Given the description of an element on the screen output the (x, y) to click on. 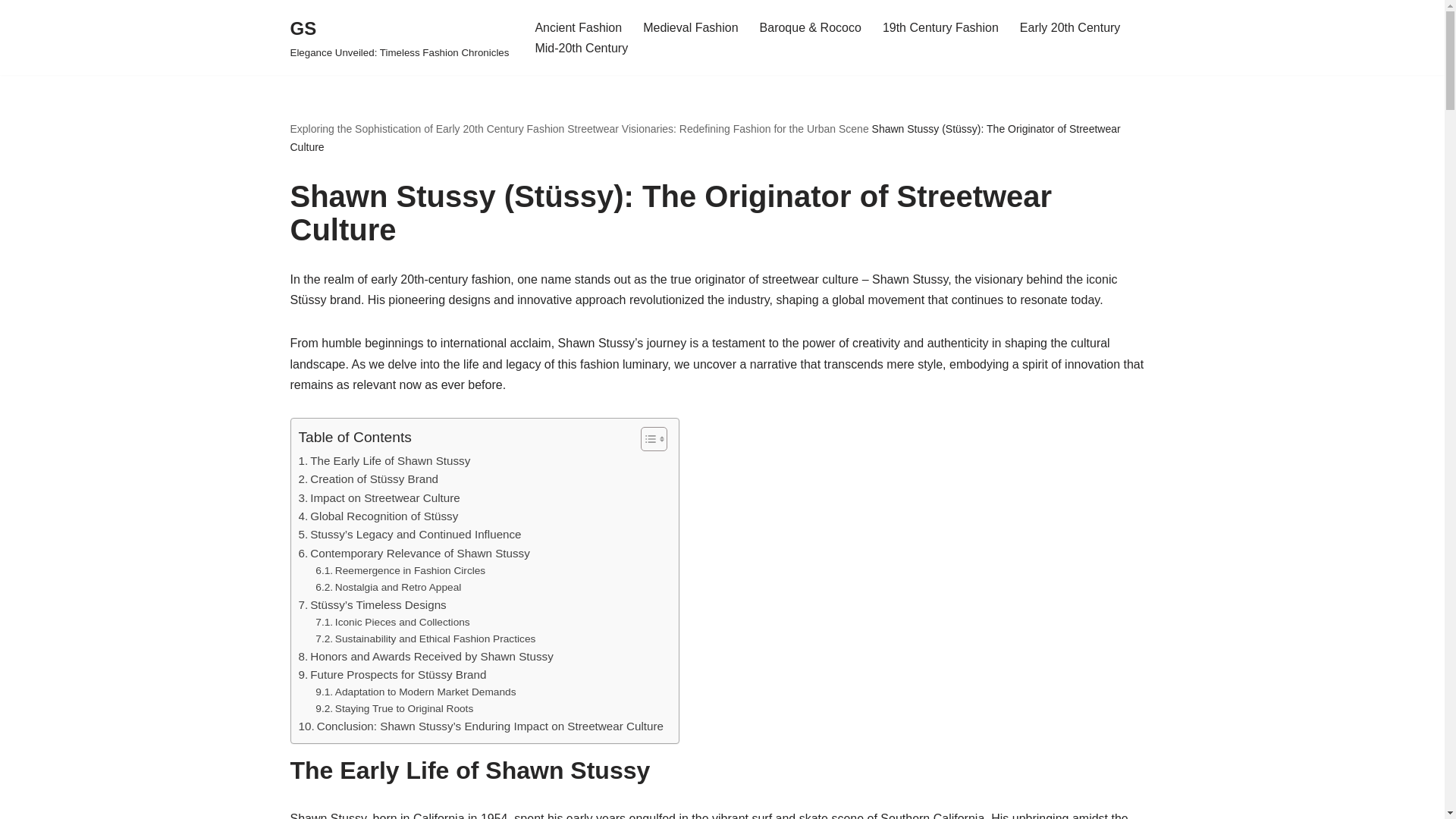
19th Century Fashion (940, 27)
Mid-20th Century (580, 47)
Medieval Fashion (690, 27)
Adaptation to Modern Market Demands (415, 692)
Sustainability and Ethical Fashion Practices (425, 638)
Nostalgia and Retro Appeal (388, 587)
Staying True to Original Roots (394, 709)
Sustainability and Ethical Fashion Practices (425, 638)
Early 20th Century (1070, 27)
Iconic Pieces and Collections (391, 622)
Contemporary Relevance of Shawn Stussy (413, 553)
Ancient Fashion (577, 27)
Reemergence in Fashion Circles (399, 570)
Exploring the Sophistication of Early 20th Century Fashion (426, 128)
